Given the description of an element on the screen output the (x, y) to click on. 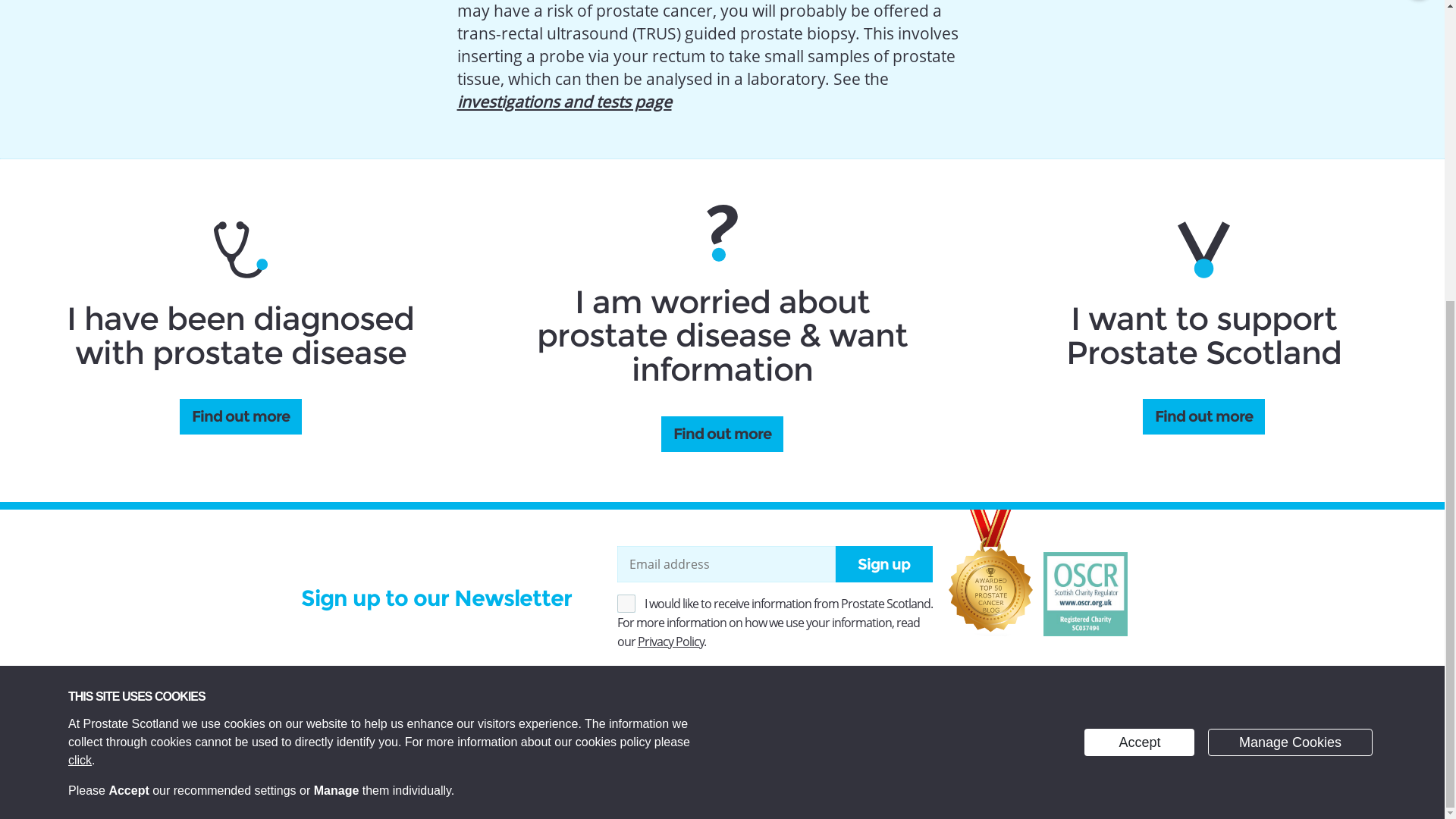
Find out more (722, 434)
Sign up (884, 564)
Cookie Control (16, 336)
Find out more (1203, 416)
Find out more (240, 416)
Privacy Policy (79, 291)
investigations and tests page (564, 101)
Privacy Policy (670, 641)
true (625, 603)
Manage Cookies (1290, 274)
click (79, 291)
Accept (1138, 274)
